Given the description of an element on the screen output the (x, y) to click on. 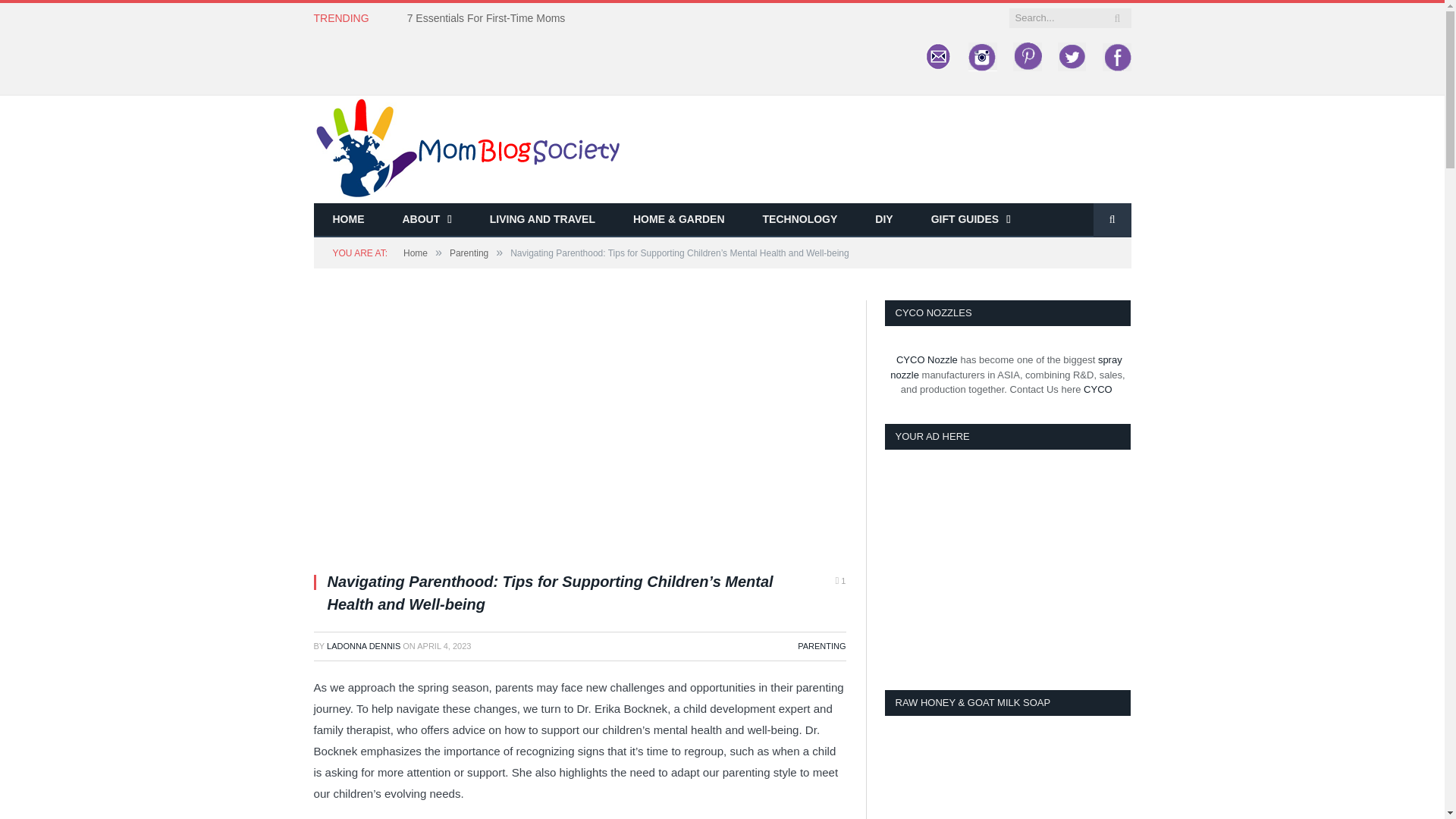
ABOUT (427, 220)
TECHNOLOGY (800, 220)
7 Essentials For First-Time Moms (490, 18)
GIFT GUIDES (970, 220)
LIVING AND TRAVEL (542, 220)
DIY (883, 220)
HOME (349, 220)
7 Essentials For First-Time Moms (490, 18)
Mom Blog Society (467, 146)
